Given the description of an element on the screen output the (x, y) to click on. 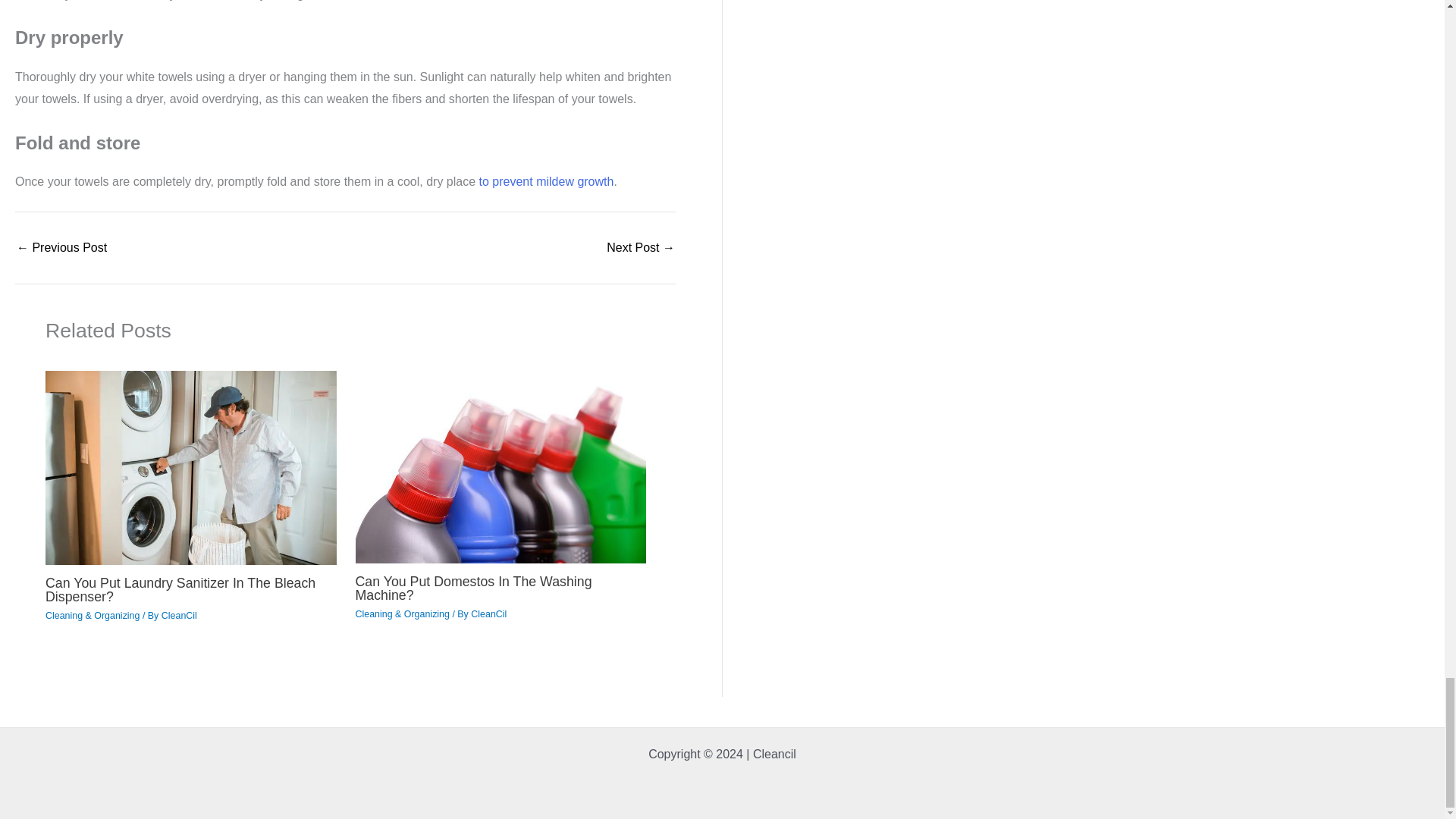
How To Use Zote Soap (641, 247)
Can You Wash White And Black Socks Together? (61, 247)
CleanCil (178, 615)
View all posts by CleanCil (488, 614)
View all posts by CleanCil (178, 615)
Can You Put Laundry Sanitizer In The Bleach Dispenser? (180, 589)
to prevent mildew growth (546, 181)
